Given the description of an element on the screen output the (x, y) to click on. 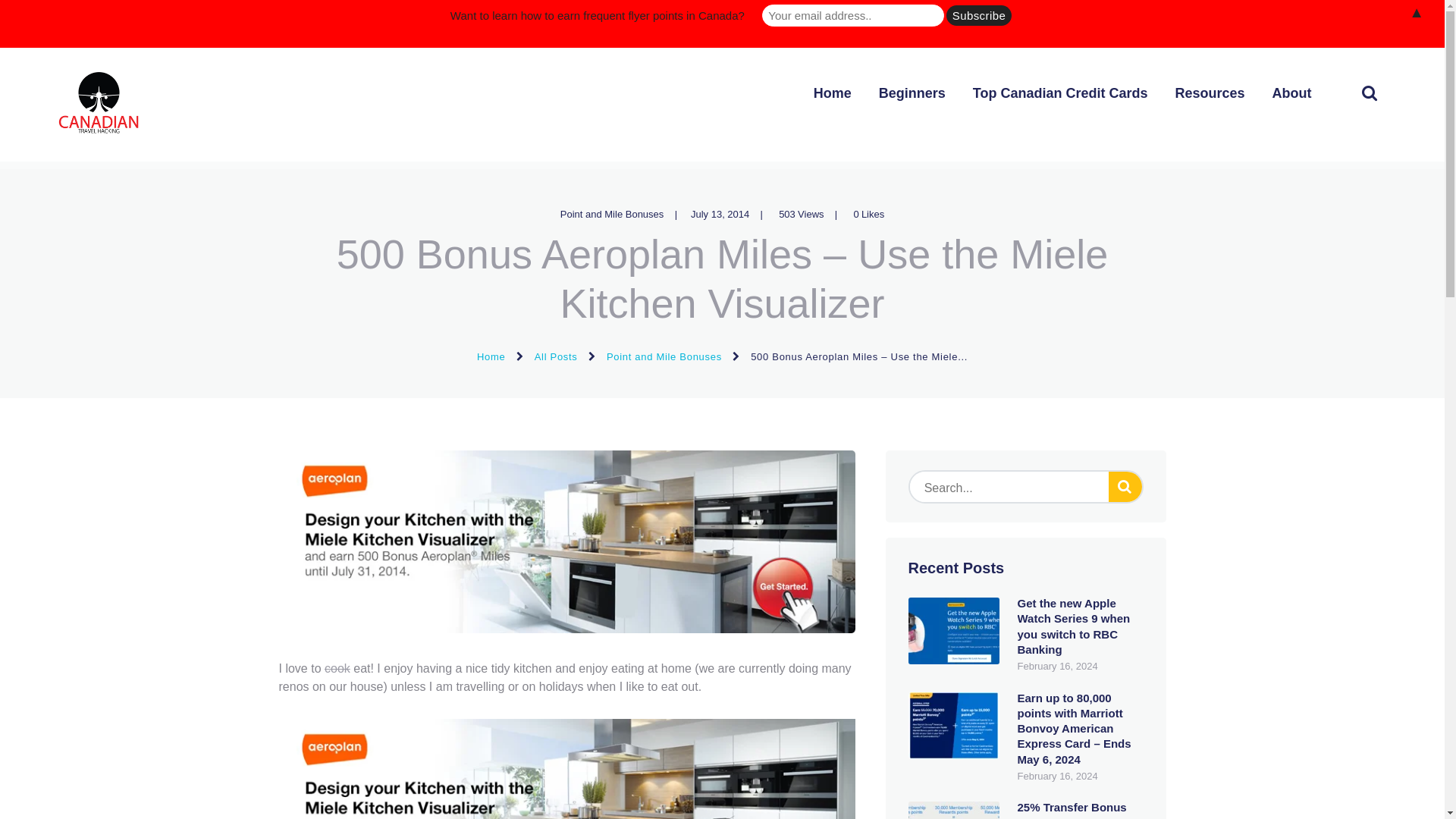
July 13, 2014 (719, 214)
0Likes (866, 214)
Point and Mile Bonuses (664, 356)
Search for: (1025, 486)
All Posts (556, 356)
Top Canadian Credit Cards (1060, 94)
503Views (812, 214)
Home (491, 356)
Beginners (911, 94)
Home (831, 94)
